Given the description of an element on the screen output the (x, y) to click on. 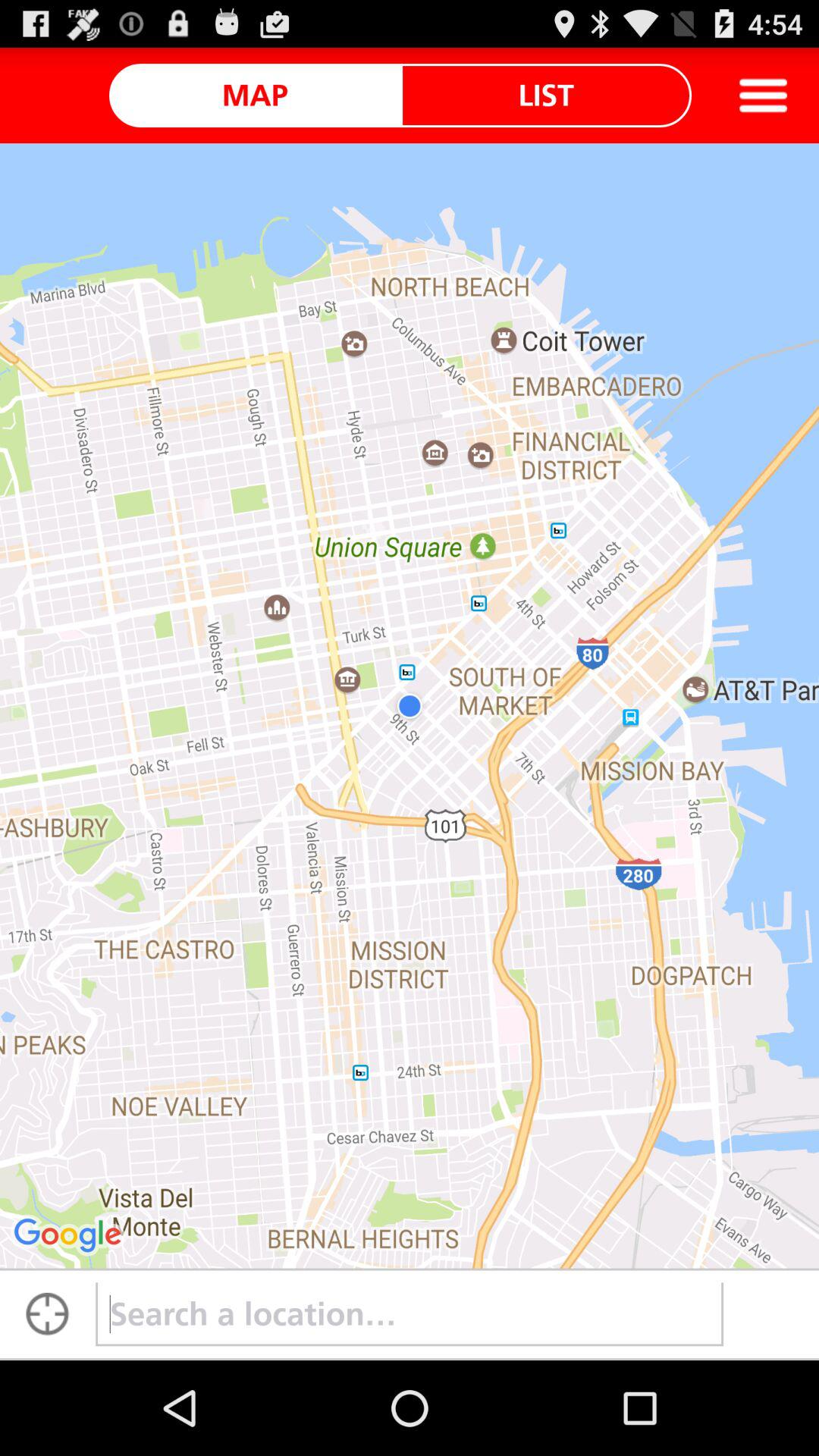
search a location (409, 1314)
